Given the description of an element on the screen output the (x, y) to click on. 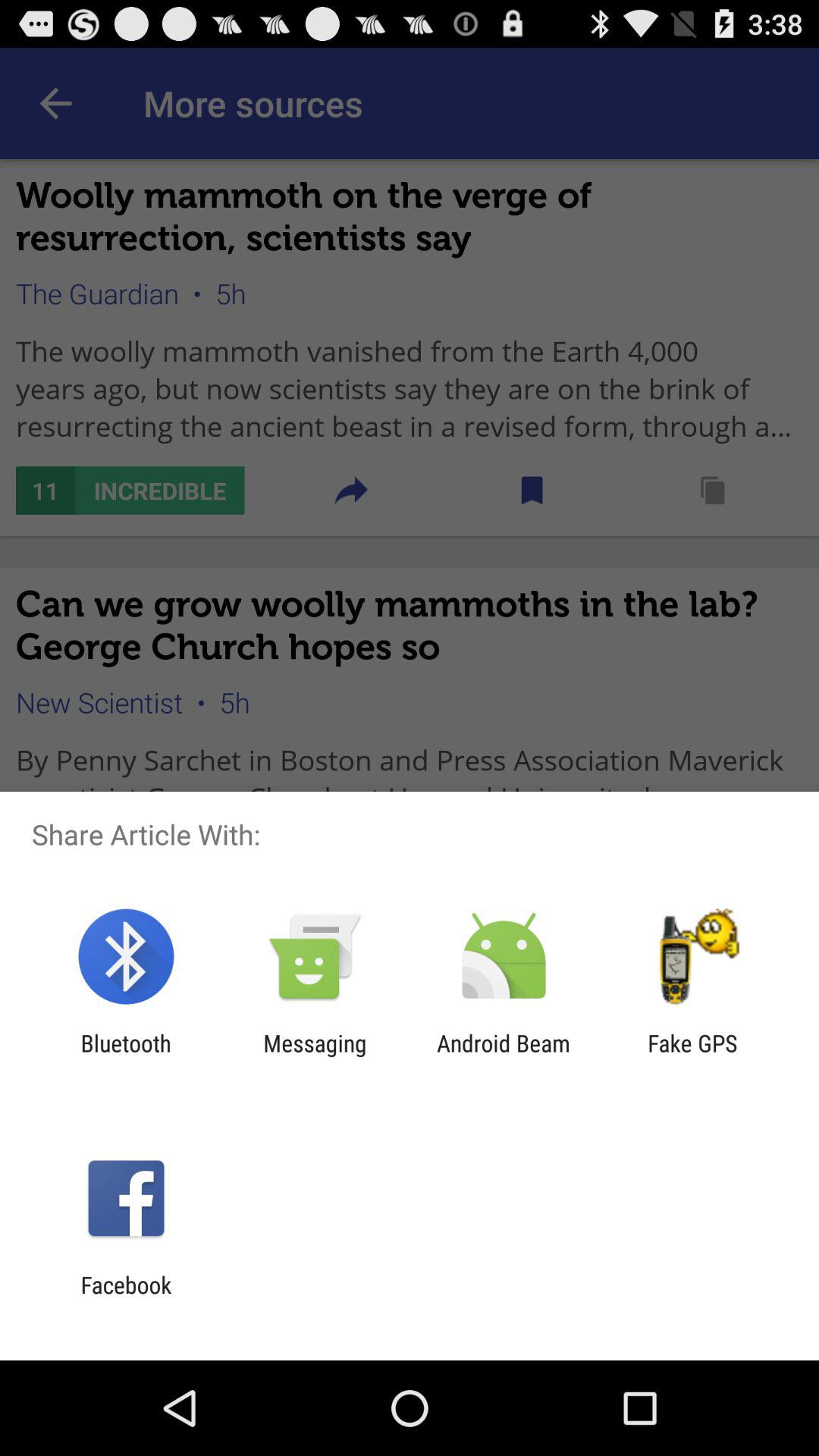
open the bluetooth item (125, 1056)
